Given the description of an element on the screen output the (x, y) to click on. 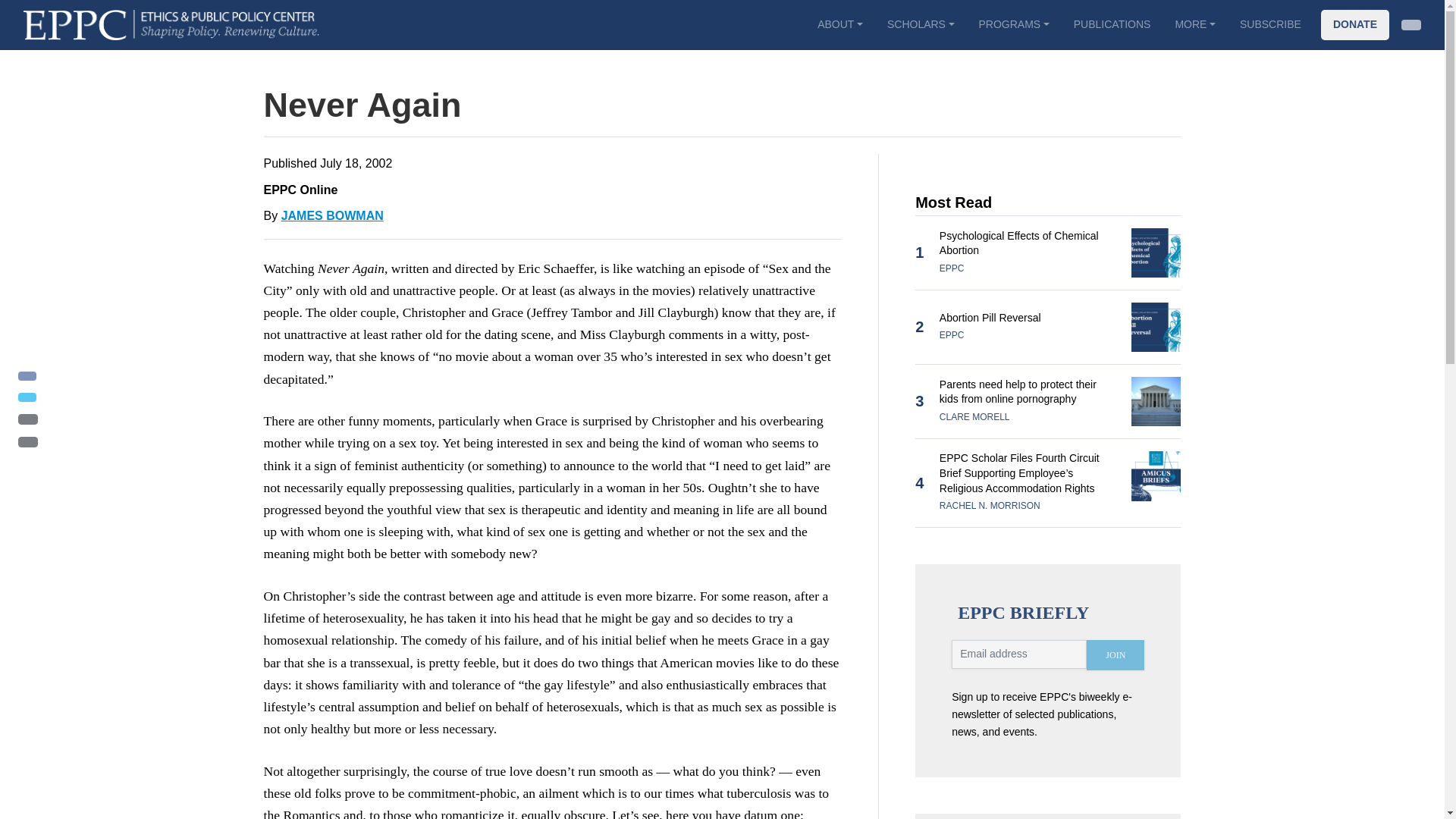
JOIN (1115, 654)
SCHOLARS (920, 24)
ABOUT (840, 24)
